Given the description of an element on the screen output the (x, y) to click on. 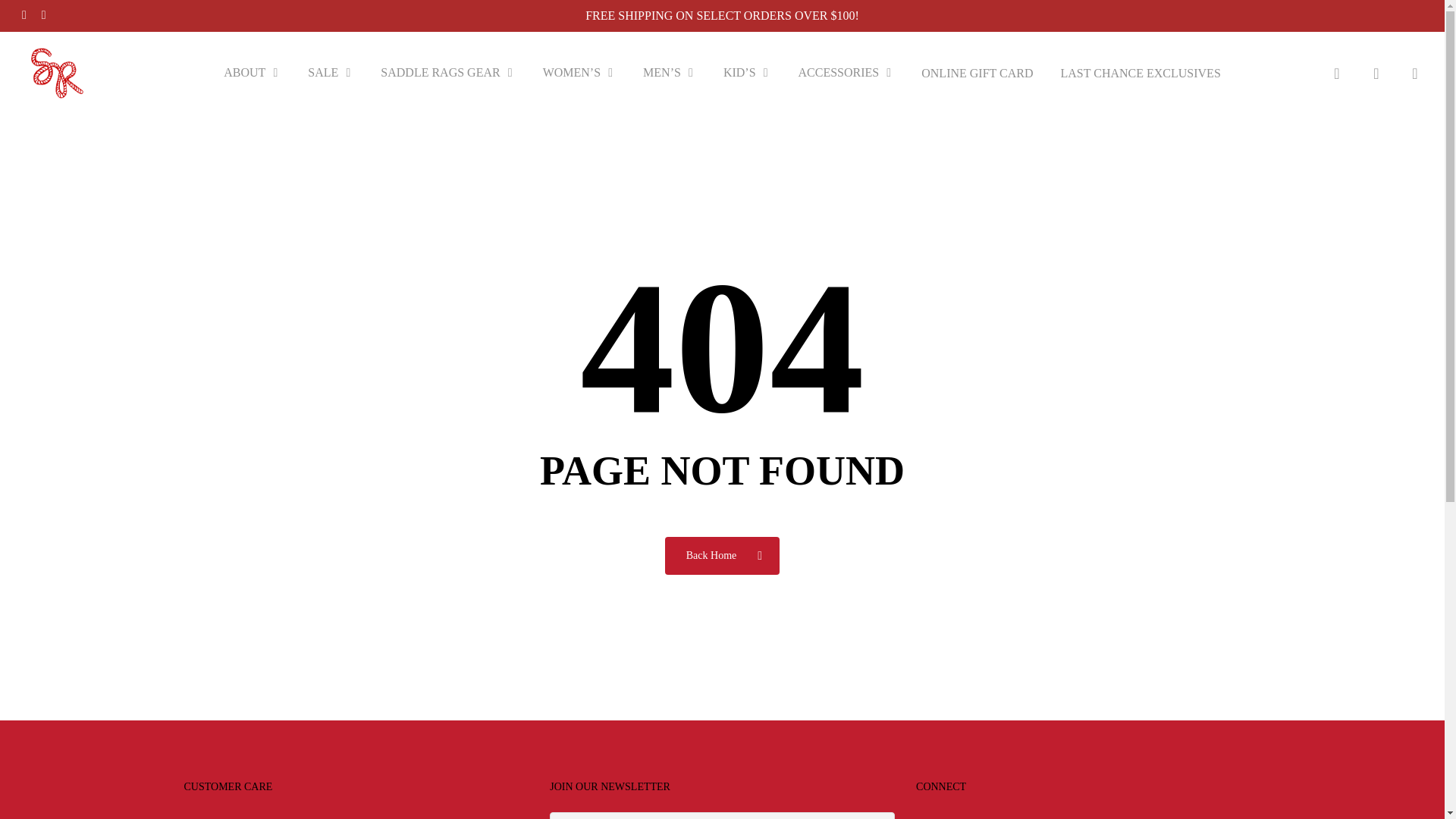
SALE (330, 72)
ABOUT (251, 72)
SADDLE RAGS GEAR (447, 72)
